Given the description of an element on the screen output the (x, y) to click on. 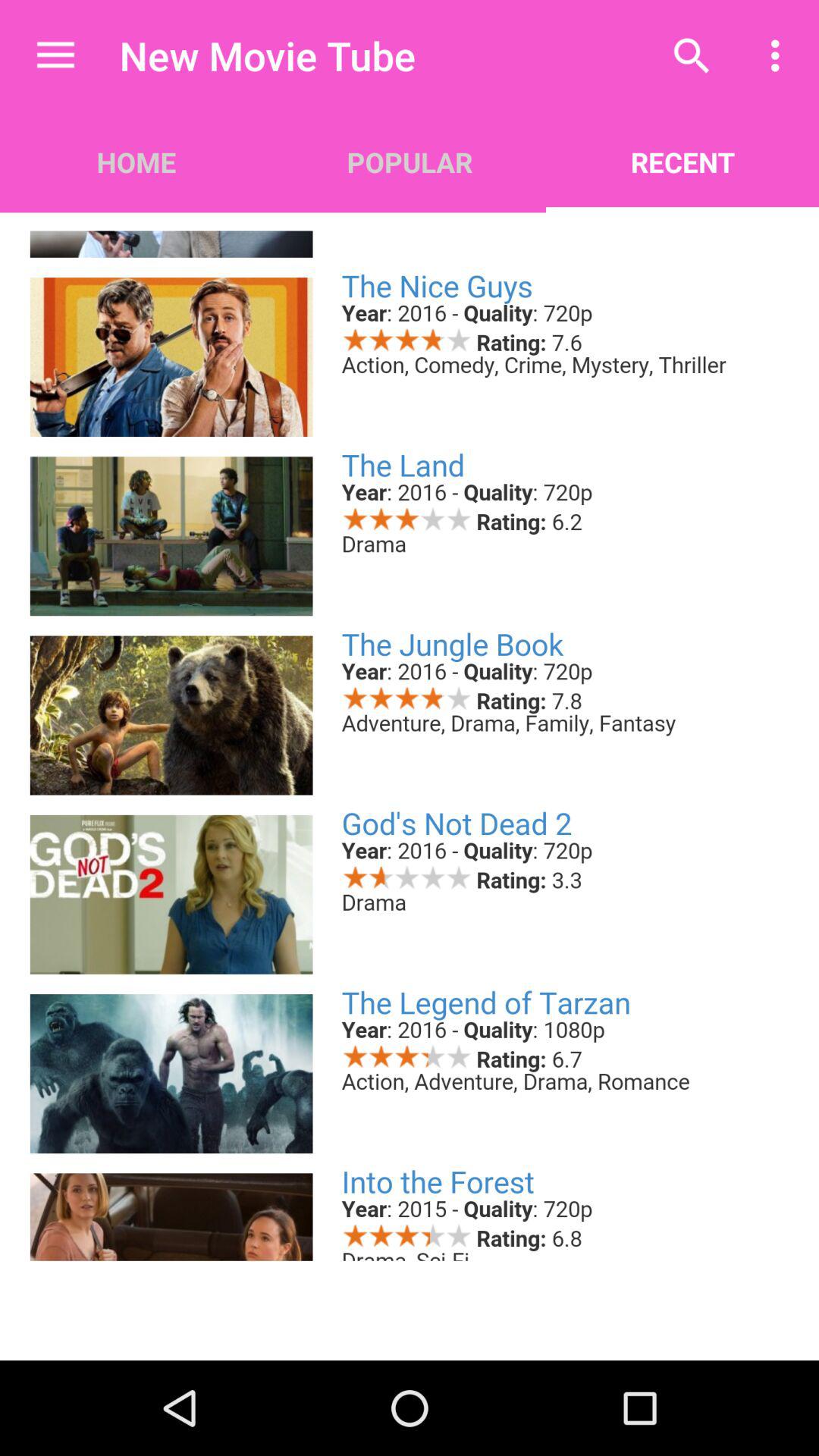
view available movies (409, 735)
